Given the description of an element on the screen output the (x, y) to click on. 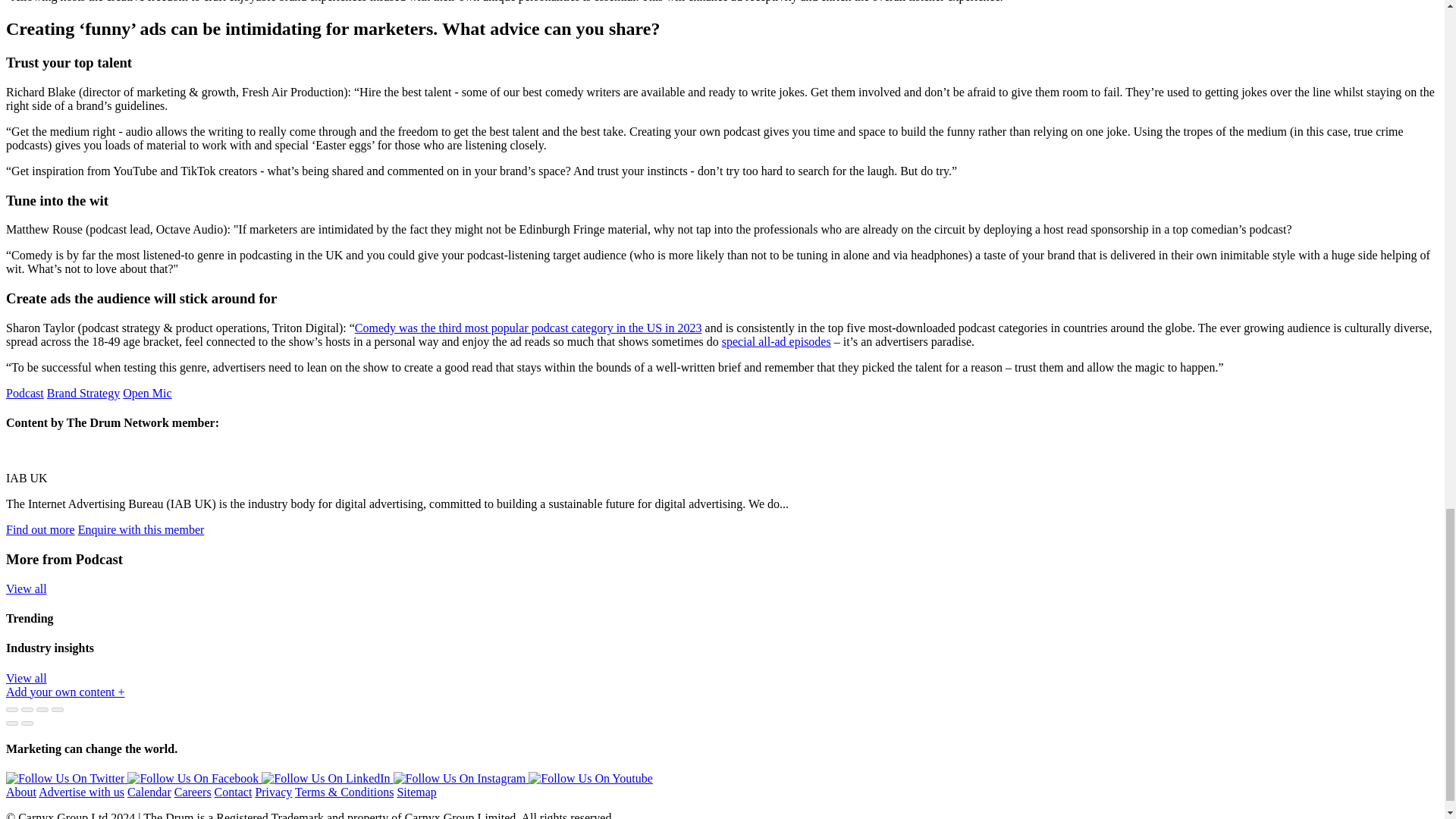
Brand Strategy (82, 392)
Share (27, 709)
special all-ad episodes (776, 341)
Toggle fullscreen (42, 709)
Open Mic (146, 392)
Enquire with this member (141, 529)
View all (25, 588)
View all (25, 677)
Podcast (24, 392)
